Given the description of an element on the screen output the (x, y) to click on. 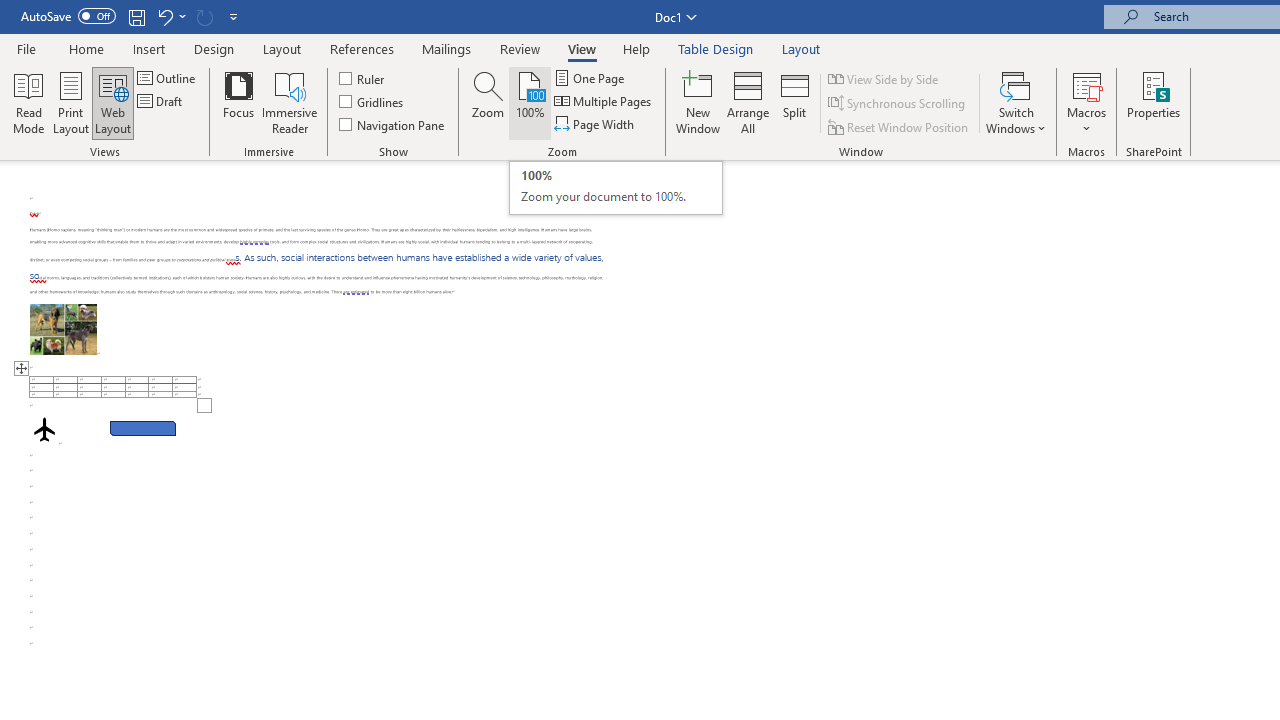
Can't Repeat (204, 15)
Table Design (715, 48)
Morphological variation in six dogs (616, 188)
View Macros (63, 328)
Split (1086, 84)
Switch Windows (795, 102)
Ruler (1016, 102)
